Given the description of an element on the screen output the (x, y) to click on. 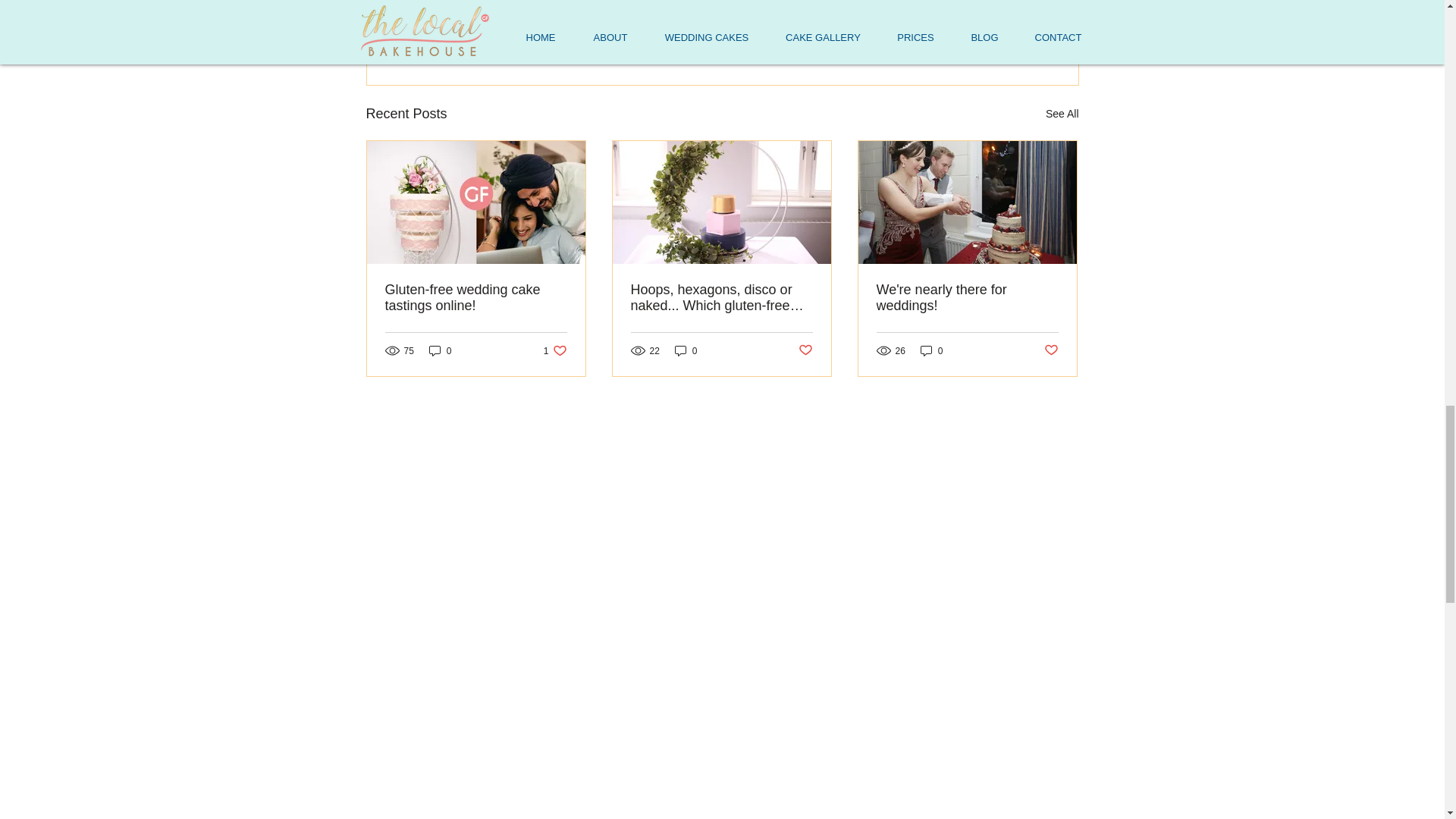
Post not marked as liked (995, 31)
Post not marked as liked (804, 350)
0 (931, 350)
We're nearly there for weddings! (967, 297)
Post not marked as liked (555, 350)
Gluten-free wedding cake tastings online! (1050, 350)
0 (476, 297)
0 (440, 350)
See All (685, 350)
